Given the description of an element on the screen output the (x, y) to click on. 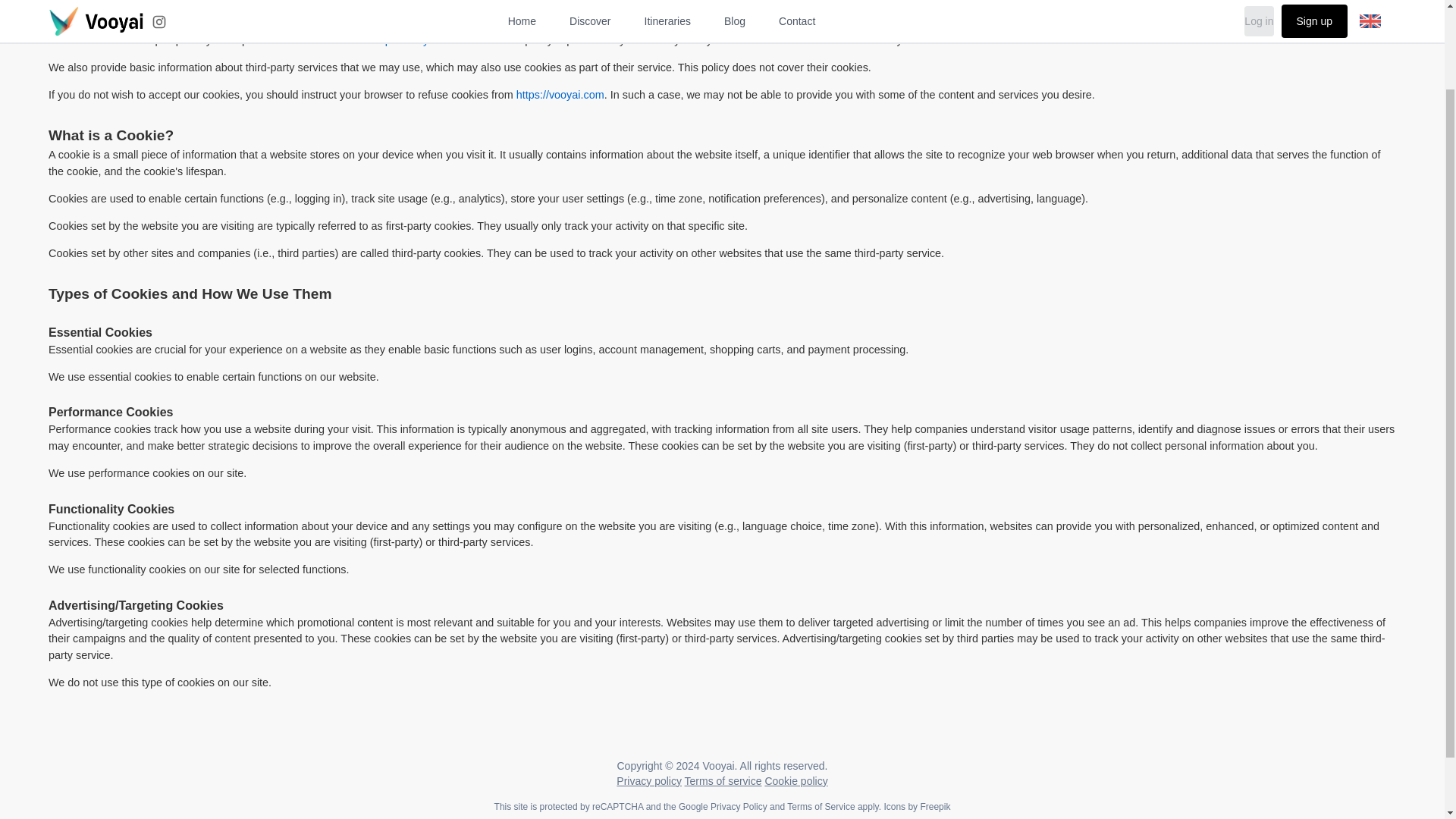
Privacy policy (648, 780)
Terms of Service (820, 806)
Terms of service (722, 780)
Privacy Policy (738, 806)
Cookie policy (795, 780)
